Given the description of an element on the screen output the (x, y) to click on. 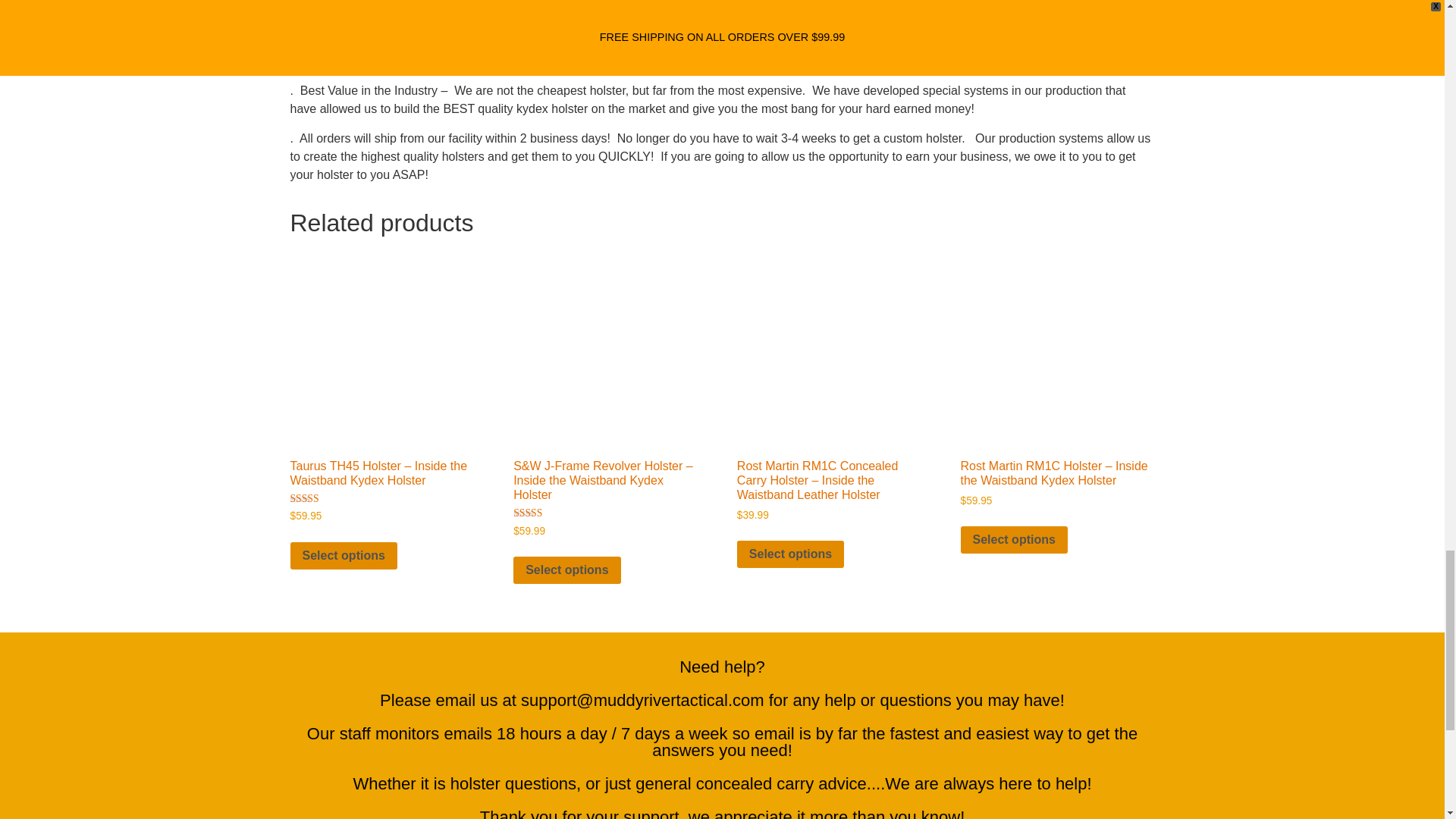
Select options (342, 555)
Select options (566, 569)
Select options (790, 554)
Select options (1013, 539)
